Given the description of an element on the screen output the (x, y) to click on. 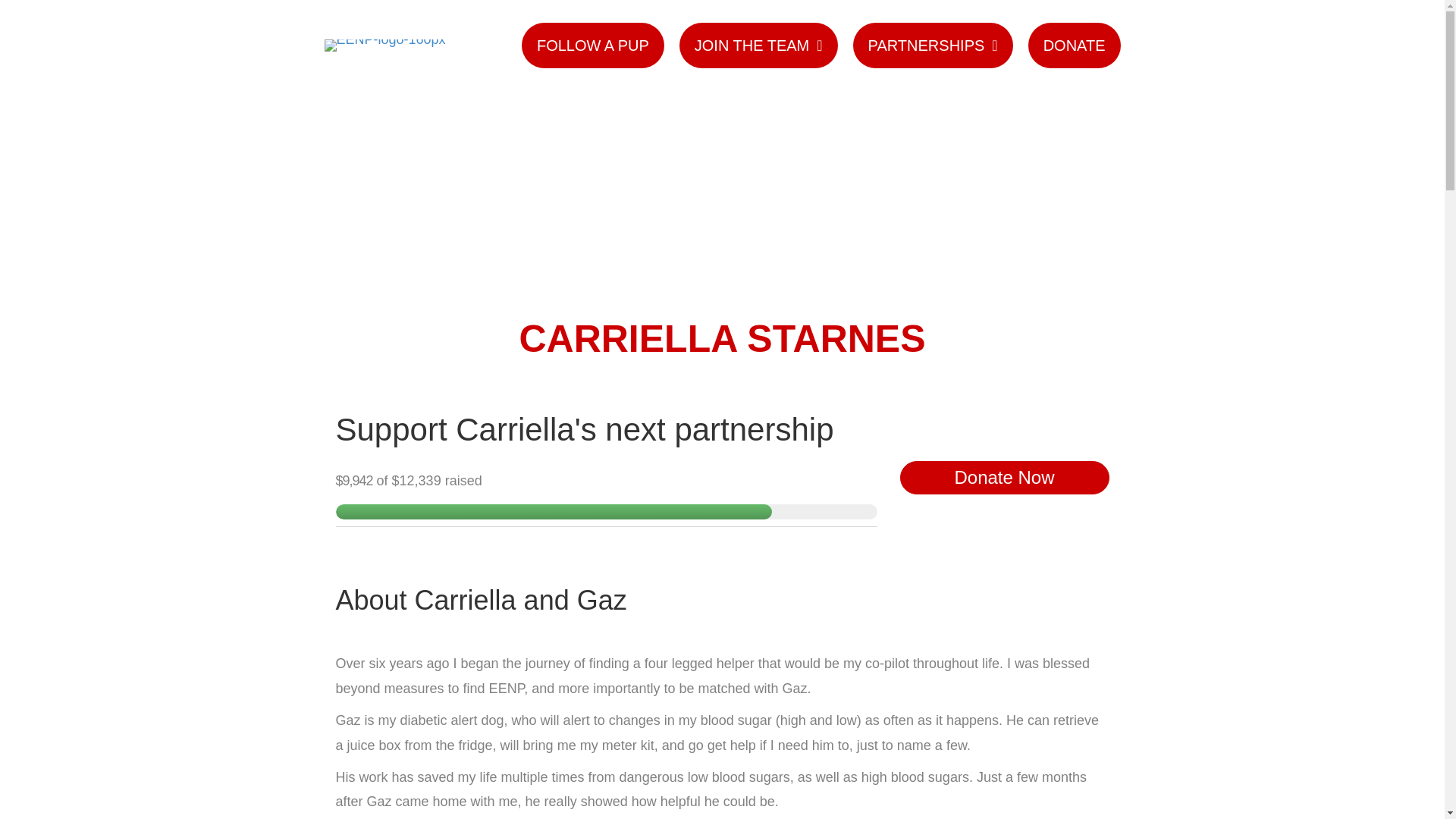
FOLLOW A PUP (592, 44)
EENP-logo-160px (384, 45)
Donate Now (1003, 477)
JOIN THE TEAM (758, 44)
PARTNERSHIPS (933, 44)
DONATE (1074, 44)
